Given the description of an element on the screen output the (x, y) to click on. 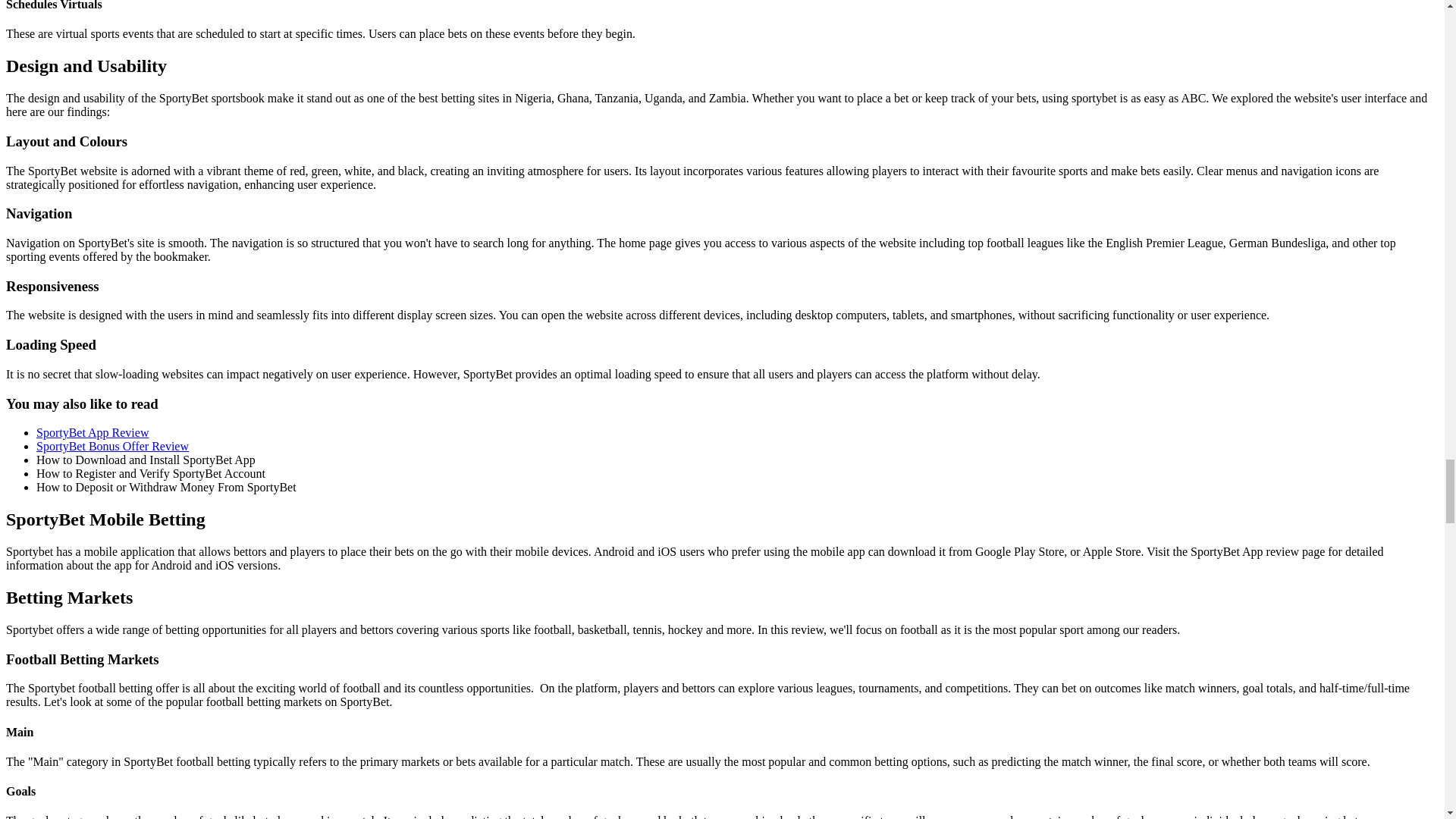
SportyBet Bonus Offer Review (112, 445)
SportyBet App Review (92, 431)
